Given the description of an element on the screen output the (x, y) to click on. 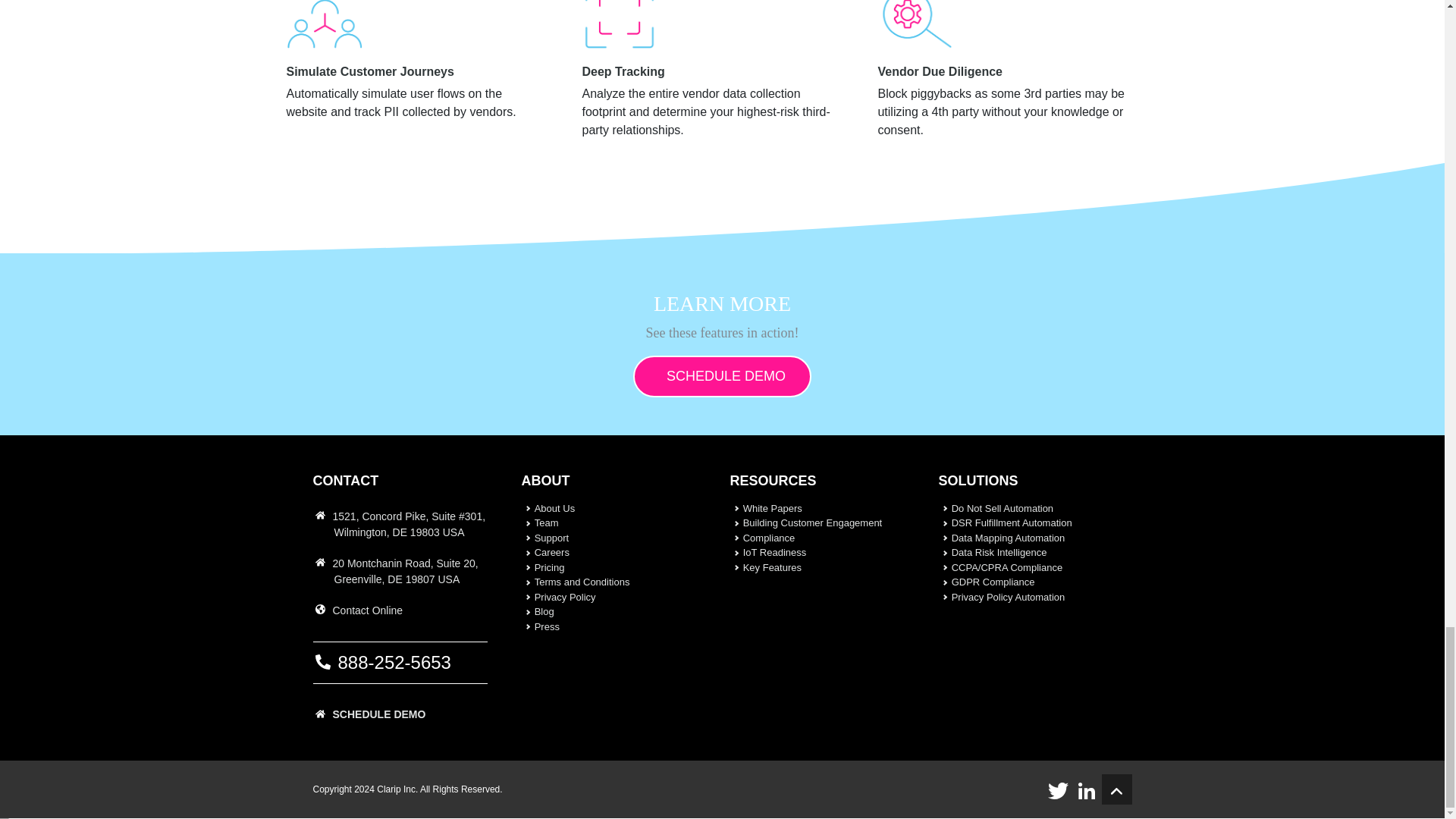
Go to top (1115, 788)
